Given the description of an element on the screen output the (x, y) to click on. 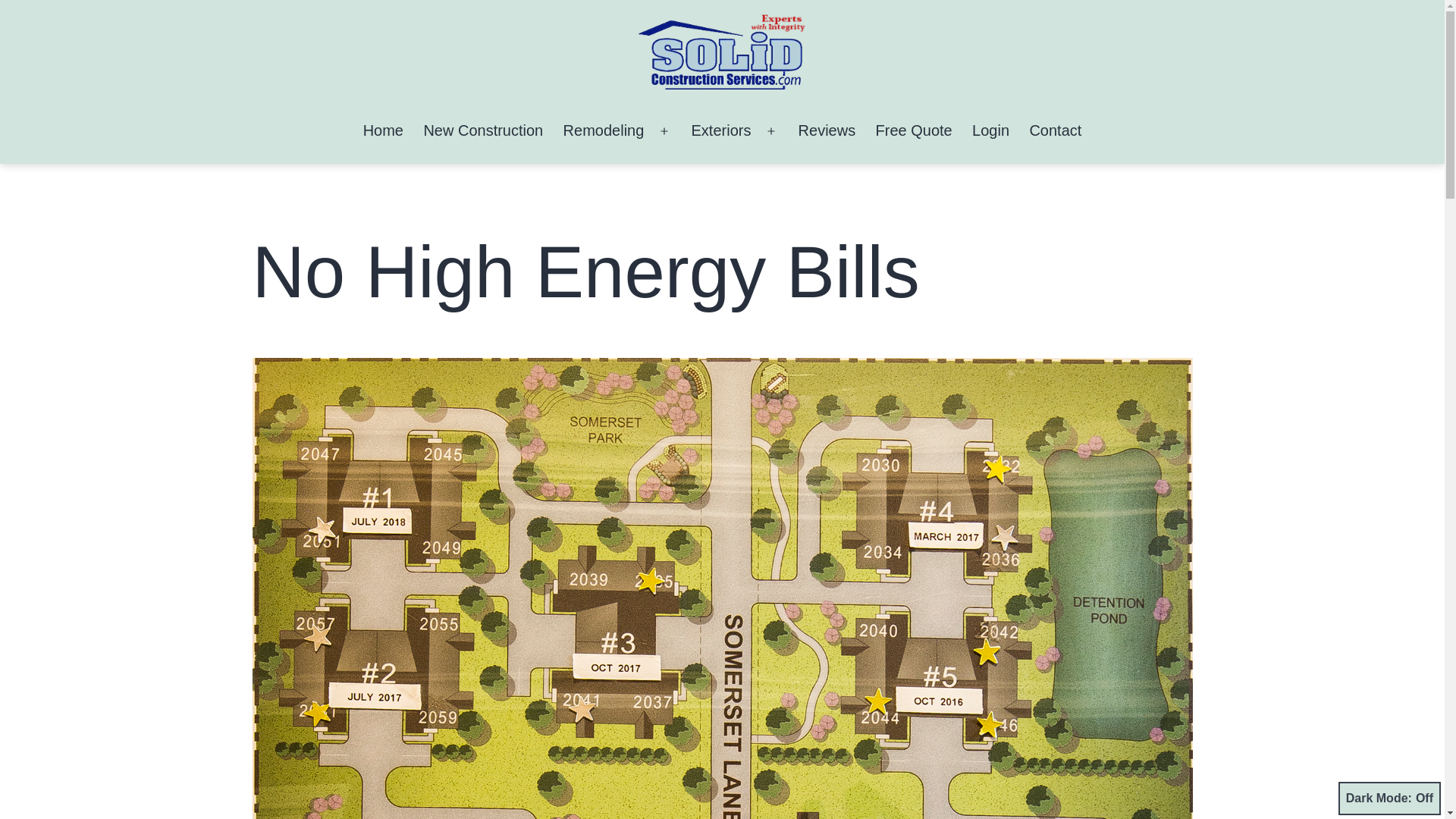
Reviews (825, 130)
Remodeling (603, 130)
Home (382, 130)
Login (990, 130)
New Construction (483, 130)
Free Quote (913, 130)
Contact (1054, 130)
Exteriors (720, 130)
